Given the description of an element on the screen output the (x, y) to click on. 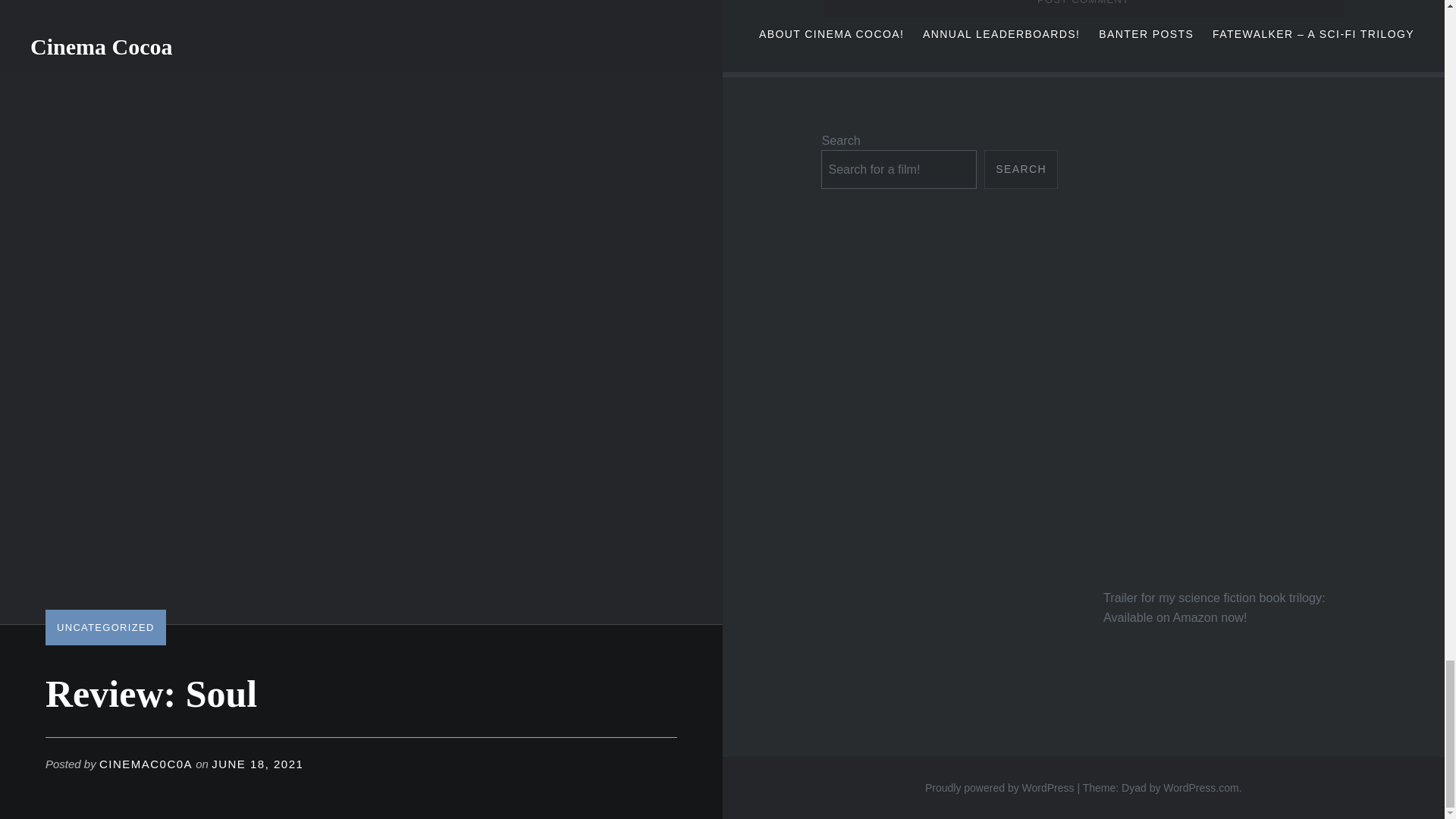
Post Comment (1083, 8)
Post Comment (1083, 8)
SEARCH (1021, 169)
Proudly powered by WordPress (999, 787)
WordPress.com (1201, 787)
